Given the description of an element on the screen output the (x, y) to click on. 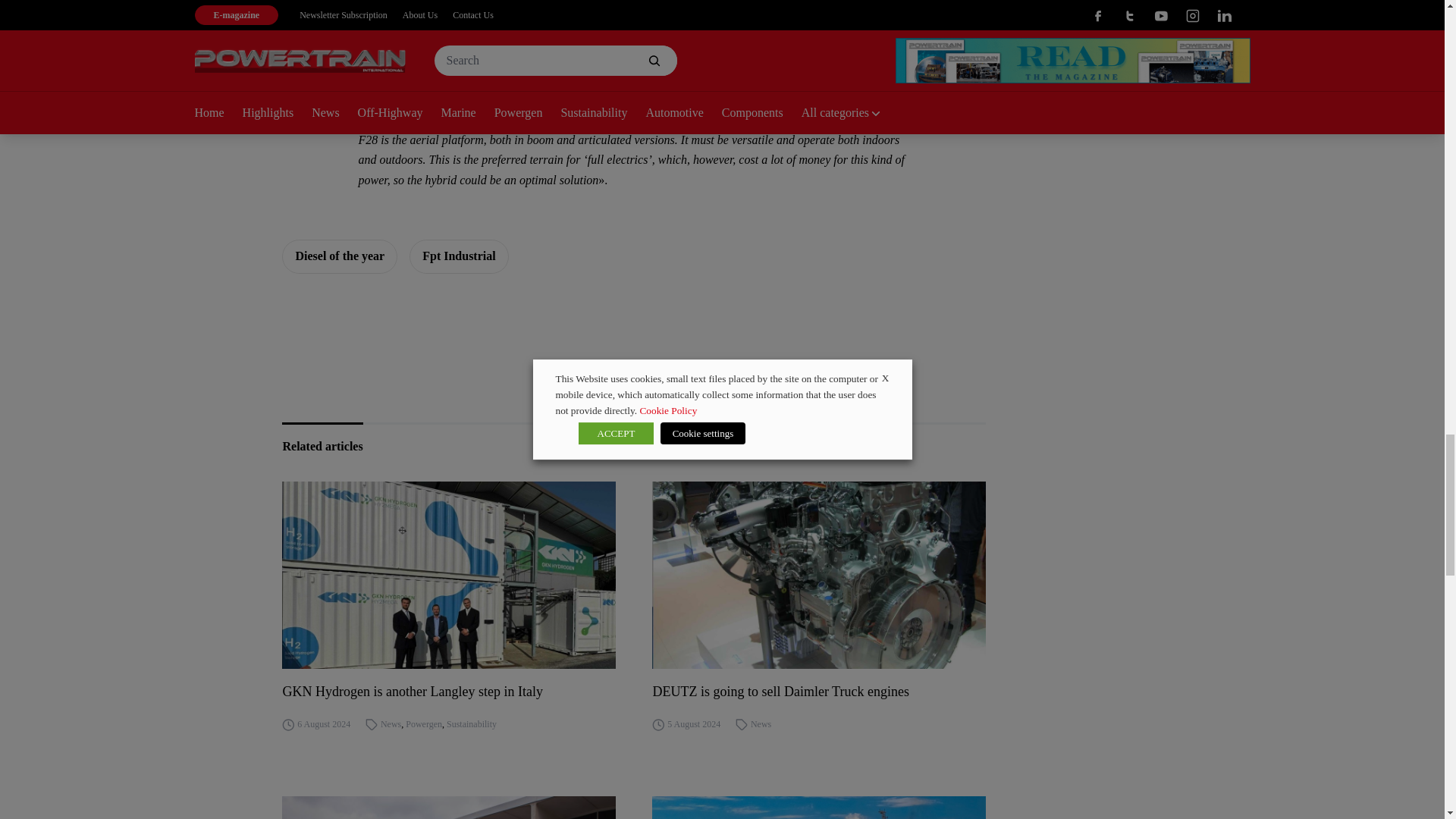
Asia and the lead in regasification (818, 807)
GKN Hydrogen is another Langley step in Italy (448, 690)
Diesel of the year (339, 256)
DEUTZ is going to sell Daimler Truck engines (818, 575)
Cummins and Jamestown. A half-century long history (448, 807)
GKN Hydrogen is another Langley step in Italy (448, 575)
DEUTZ is going to sell Daimler Truck engines (818, 690)
